Given the description of an element on the screen output the (x, y) to click on. 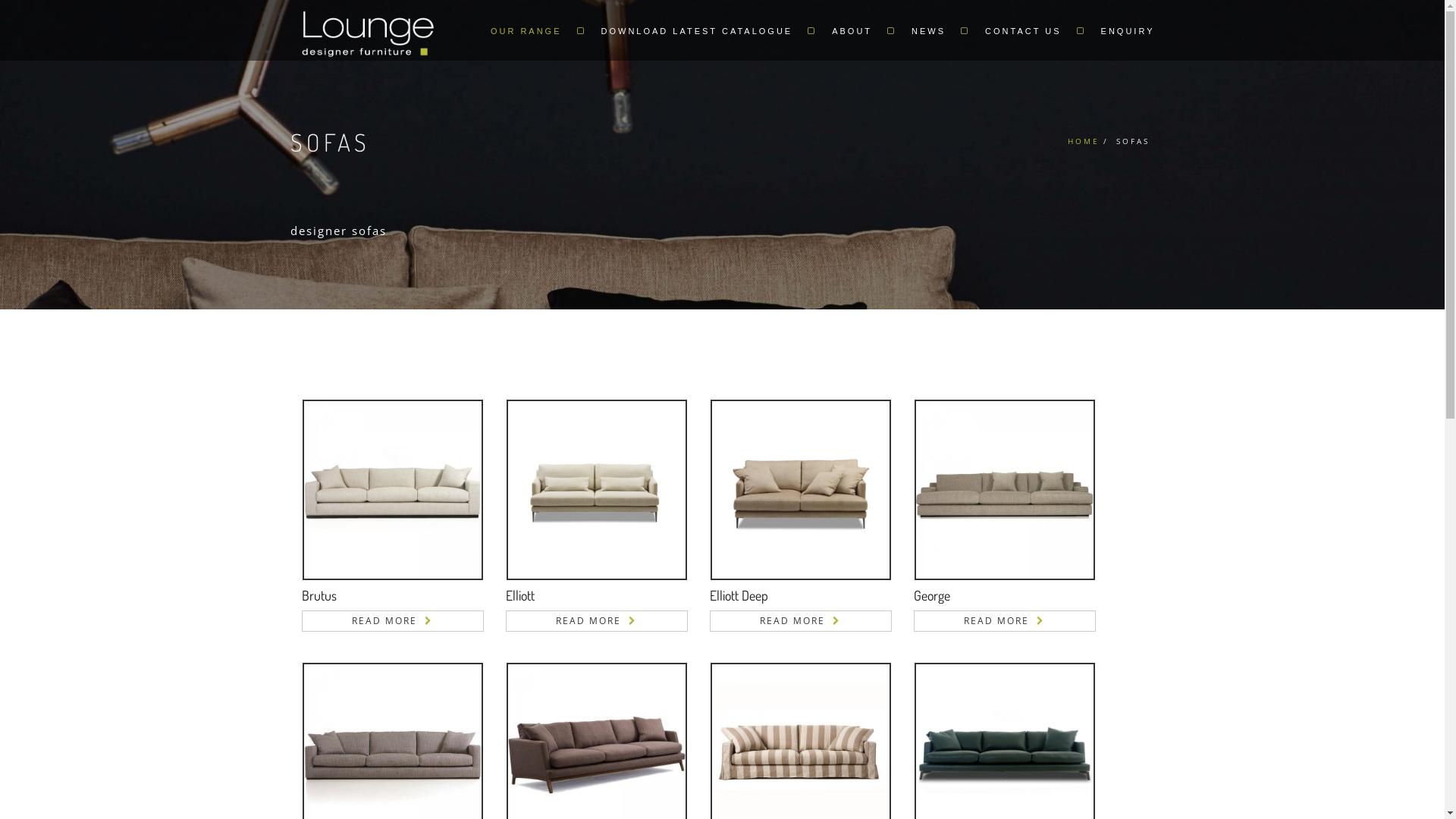
READ MORE Element type: text (392, 620)
DOWNLOAD LATEST CATALOGUE Element type: text (700, 30)
READ MORE Element type: text (596, 620)
Elliott Element type: text (519, 594)
Brutus Element type: hover (392, 489)
George Element type: text (931, 594)
Elliott Deep Element type: text (738, 594)
READ MORE Element type: text (1004, 620)
Elliot Element type: hover (596, 489)
OUR RANGE Element type: text (530, 30)
NEWS Element type: text (932, 30)
ABOUT Element type: text (856, 30)
ENQUIRY Element type: text (1119, 30)
HOME Element type: text (1083, 140)
READ MORE Element type: text (800, 620)
Elliot-Deep Element type: hover (800, 489)
Brutus Element type: text (318, 594)
CONTACT US Element type: text (1027, 30)
George2 Element type: hover (1004, 489)
